Given the description of an element on the screen output the (x, y) to click on. 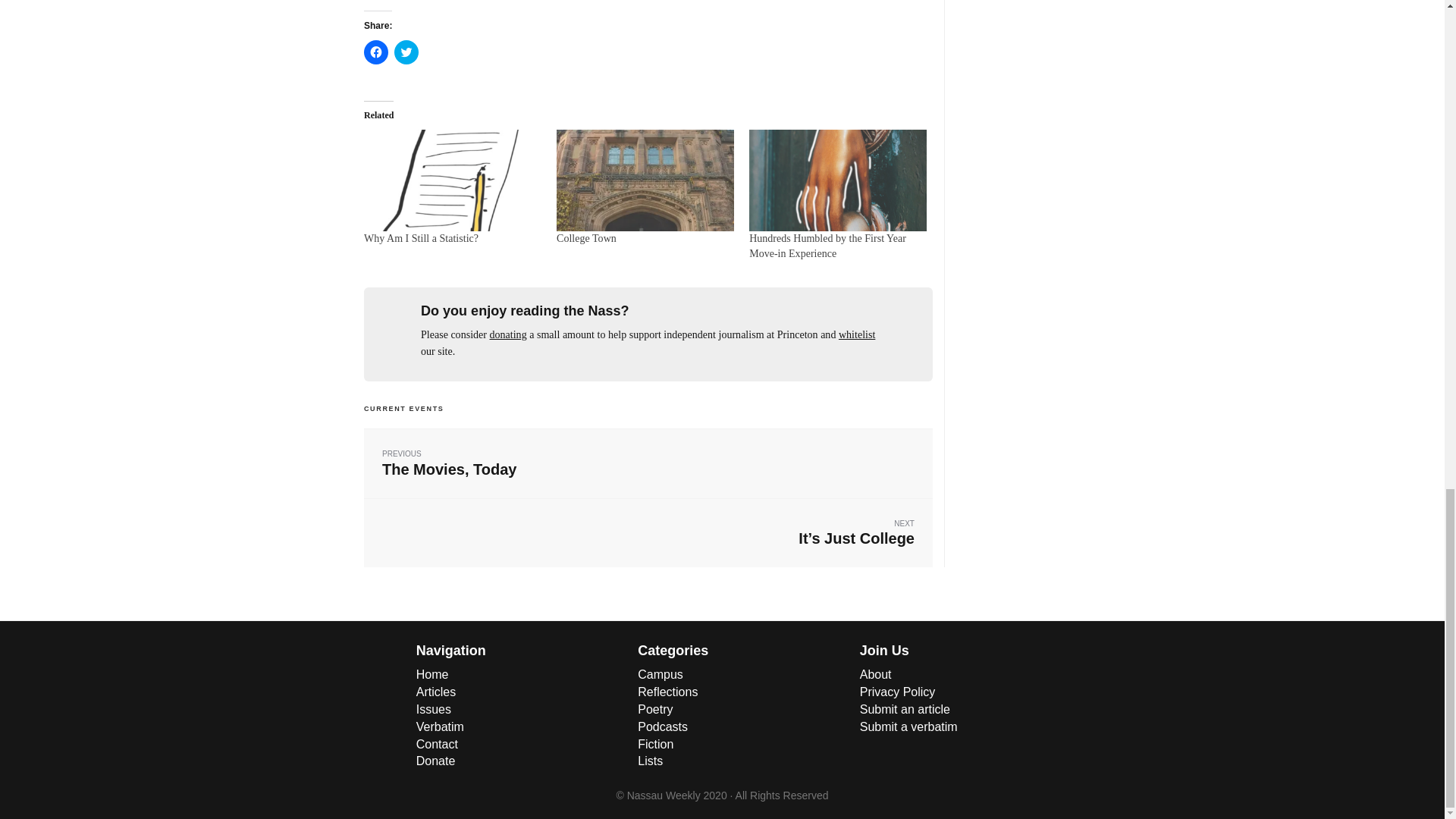
Click to share on Facebook (376, 52)
Hundreds Humbled by the First Year Move-in Experience (837, 179)
College Town (585, 238)
Why Am I Still a Statistic? (421, 238)
whitelist (856, 334)
Home (432, 674)
College Town (644, 179)
donating (508, 334)
Hundreds Humbled by the First Year Move-in Experience (648, 462)
Click to share on Twitter (827, 245)
Why Am I Still a Statistic? (406, 52)
Why Am I Still a Statistic? (421, 238)
College Town (452, 179)
Hundreds Humbled by the First Year Move-in Experience (585, 238)
